Given the description of an element on the screen output the (x, y) to click on. 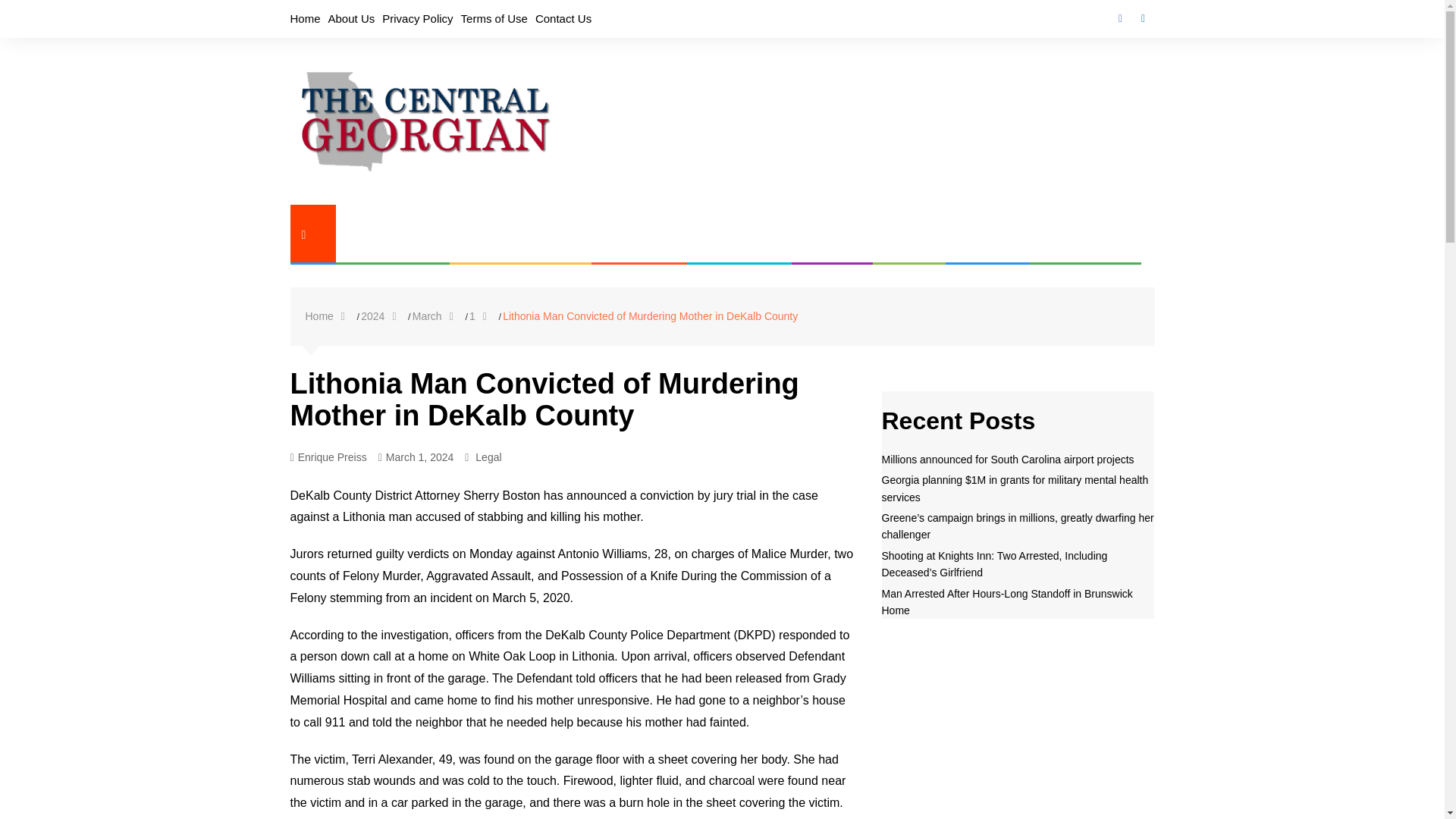
Terms of Use (494, 18)
Home (328, 316)
EDUCATION (730, 234)
Lithonia Man Convicted of Murdering Mother in DeKalb County (649, 315)
Contact Us (563, 18)
Facebook (1119, 18)
Enrique Preiss (327, 457)
Home (304, 18)
SPORTS (977, 234)
LOCAL NEWS (382, 234)
GEORGIA NEWS (510, 234)
Legal (488, 457)
LEGAL (899, 234)
1 (481, 316)
About Us (352, 18)
